Given the description of an element on the screen output the (x, y) to click on. 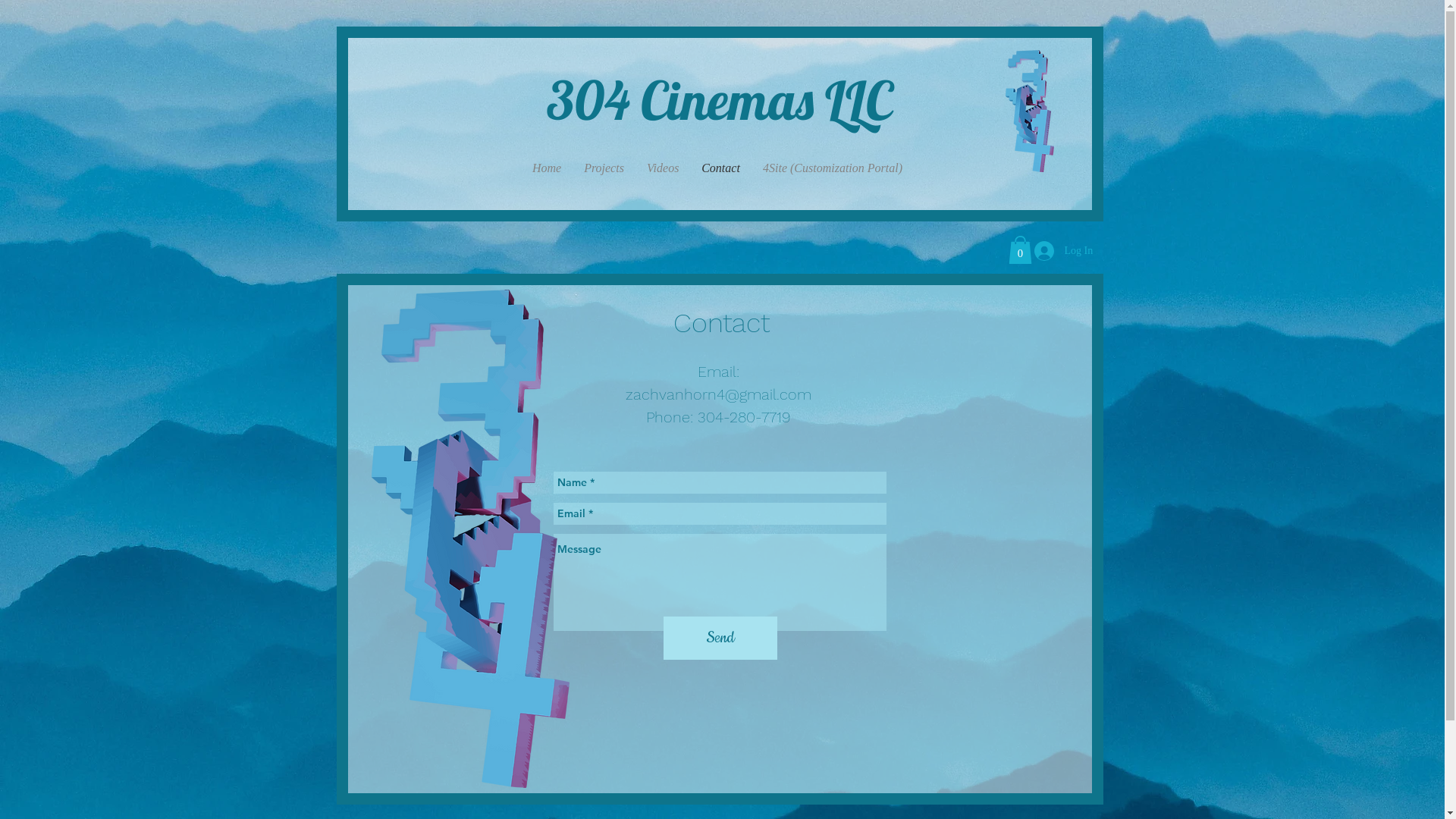
304 Cinemas LLC Element type: text (718, 99)
Log In Element type: text (1054, 250)
zachvanhorn4@gmail.com Element type: text (717, 394)
Videos Element type: text (662, 167)
Contact Element type: text (720, 167)
0 Element type: text (1020, 249)
Send Element type: text (719, 637)
Home Element type: text (546, 167)
